Given the description of an element on the screen output the (x, y) to click on. 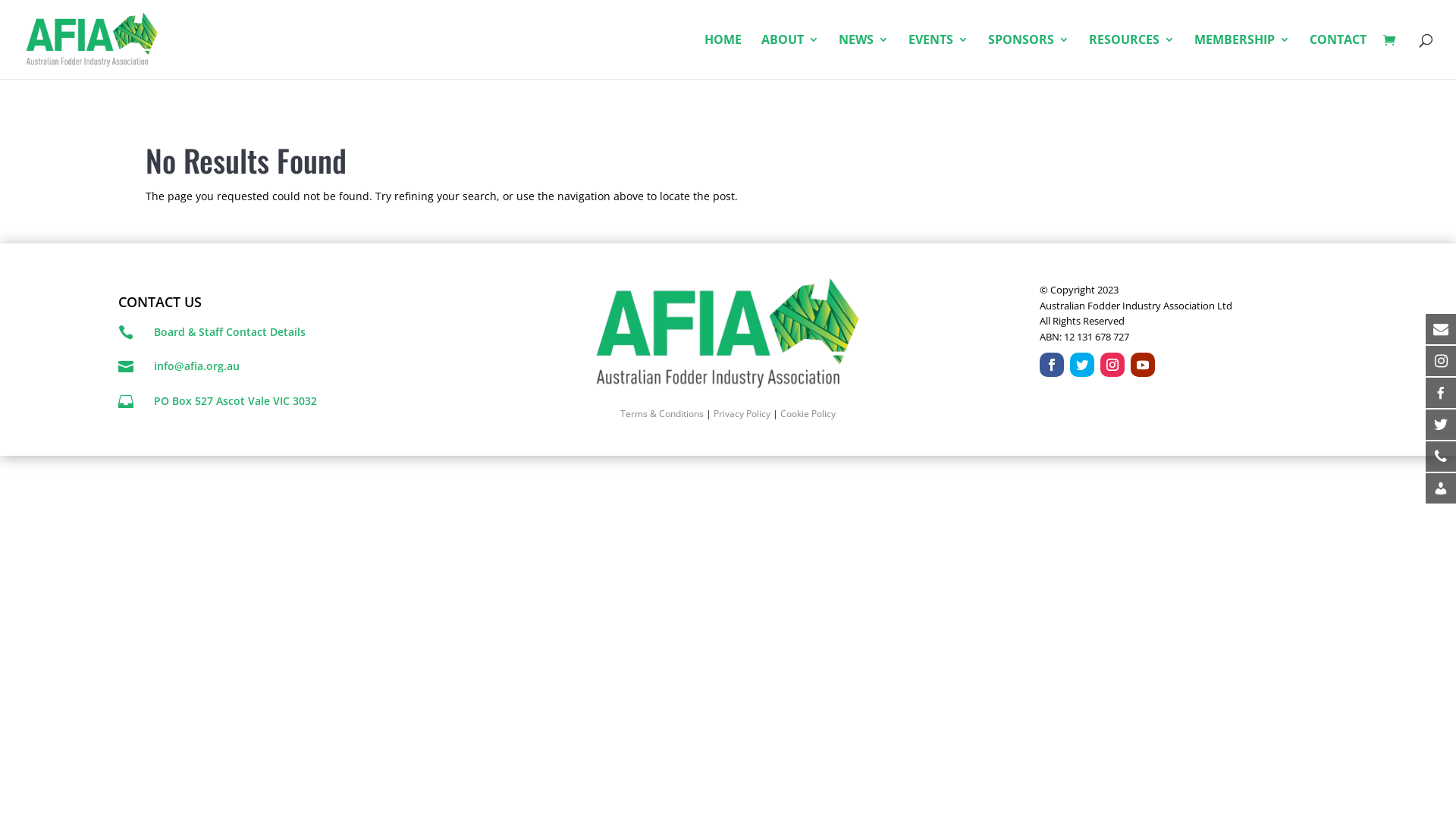
Privacy Policy Element type: text (741, 413)
ACCEPT Element type: text (1334, 768)
EVENTS Element type: text (938, 56)
info@afia.org.au Element type: text (196, 365)
Follow on Facebook Element type: hover (1051, 364)
RESOURCES Element type: text (1131, 56)
CONTACT Element type: text (1337, 56)
ABOUT Element type: text (790, 56)
Cookie Policy Element type: text (807, 413)
NEWS Element type: text (863, 56)
SPONSORS Element type: text (1028, 56)
Board & Staff Contact Details Element type: text (229, 331)
Terms & Conditions Element type: text (661, 413)
Cookie settings Element type: text (1271, 768)
HOME Element type: text (722, 56)
MEMBERSHIP Element type: text (1241, 56)
PO Box 527 Ascot Vale VIC 3032 Element type: text (234, 400)
Follow on Instagram Element type: hover (1112, 364)
AFIA-dark-letters Element type: hover (728, 332)
Follow on Youtube Element type: hover (1142, 364)
Follow on Twitter Element type: hover (1082, 364)
